Given the description of an element on the screen output the (x, y) to click on. 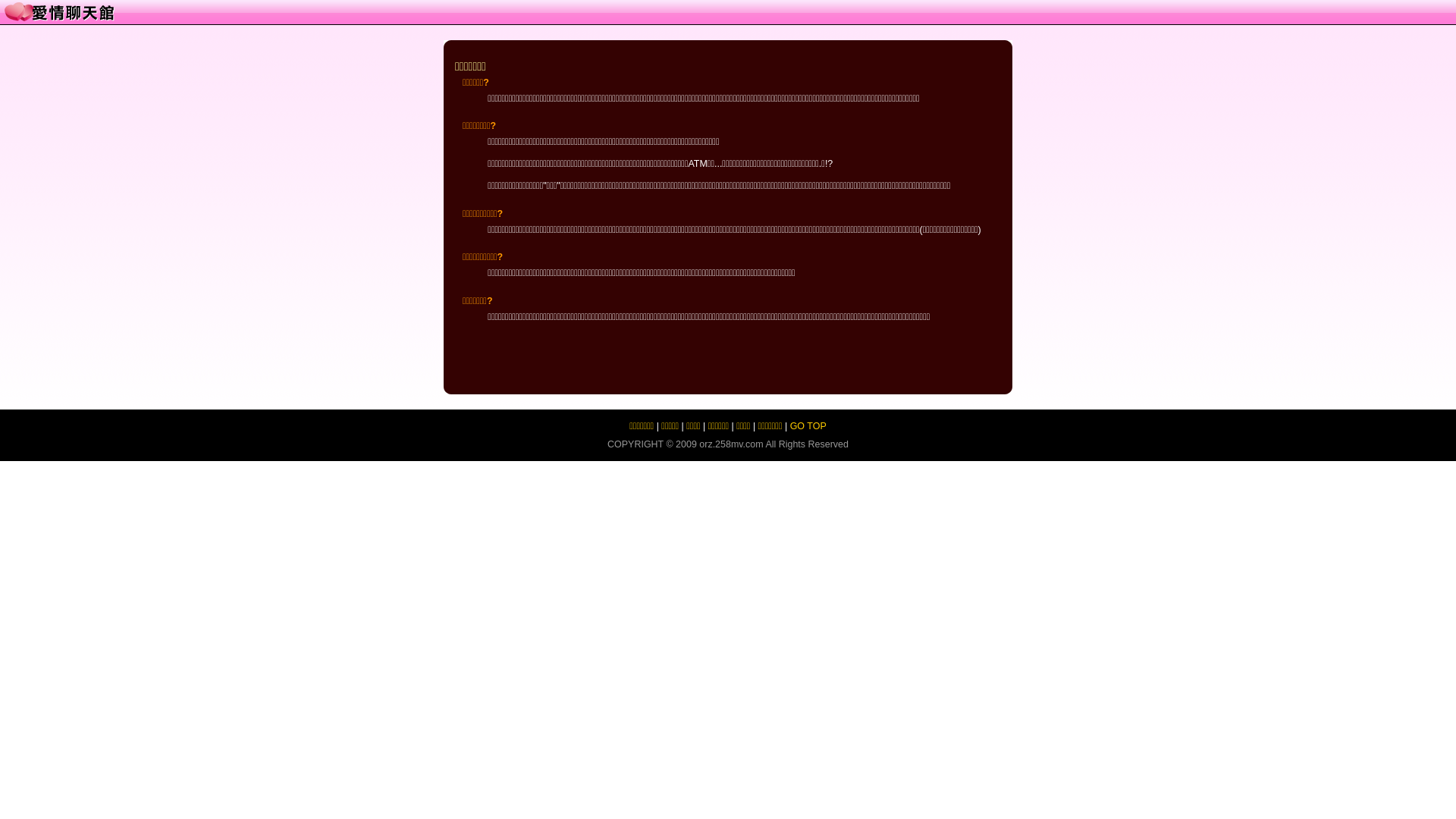
GO TOP Element type: text (808, 425)
orz.258mv.com Element type: text (730, 444)
